Given the description of an element on the screen output the (x, y) to click on. 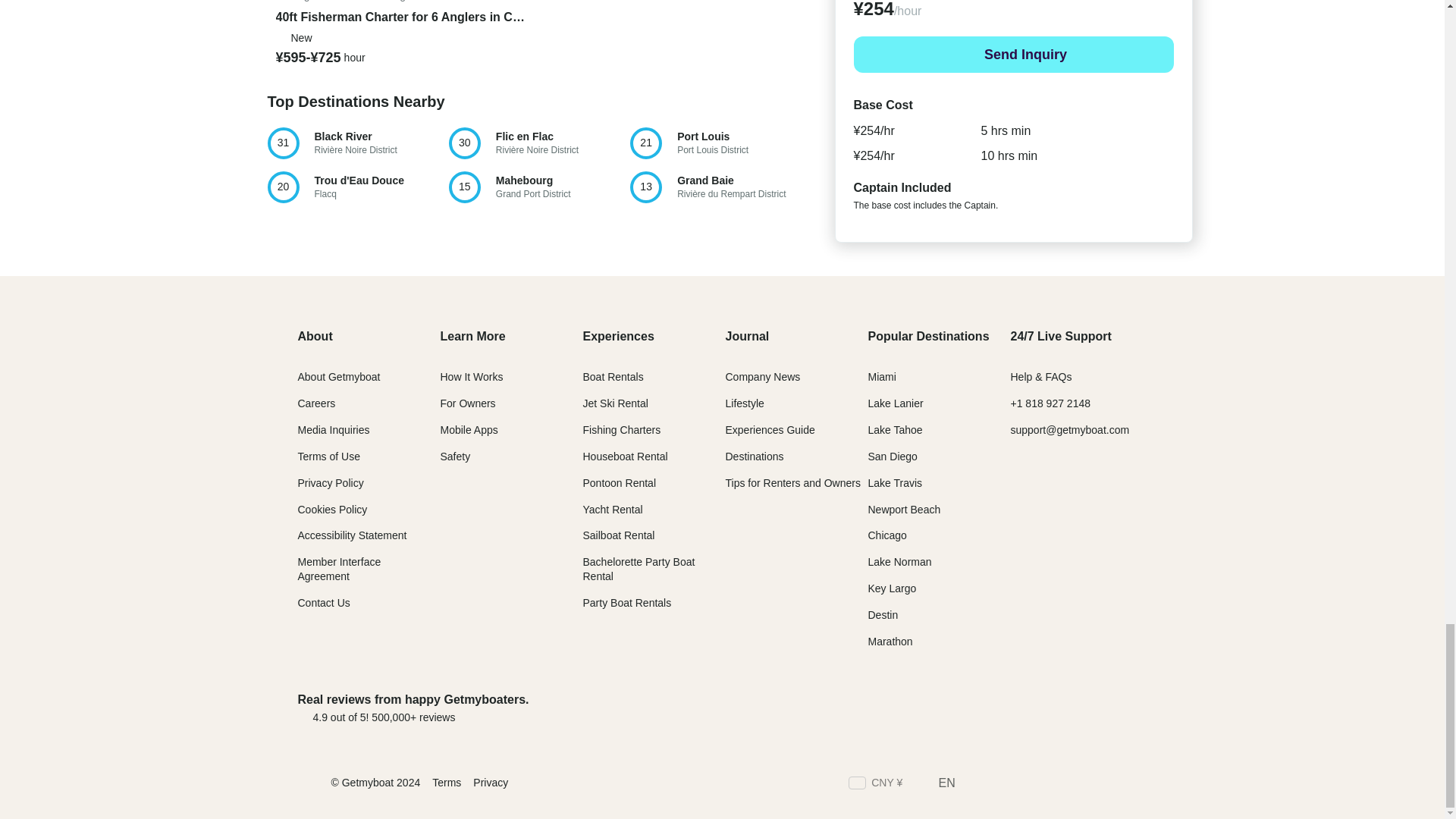
Twitter (719, 142)
LinkedIn (1002, 784)
YouTube (1056, 784)
Download on the App Store (1139, 784)
Instagram (977, 707)
Pinterest (1029, 784)
Facebook (1111, 784)
TikTok (975, 784)
Get it on Google Play (1084, 784)
